Given the description of an element on the screen output the (x, y) to click on. 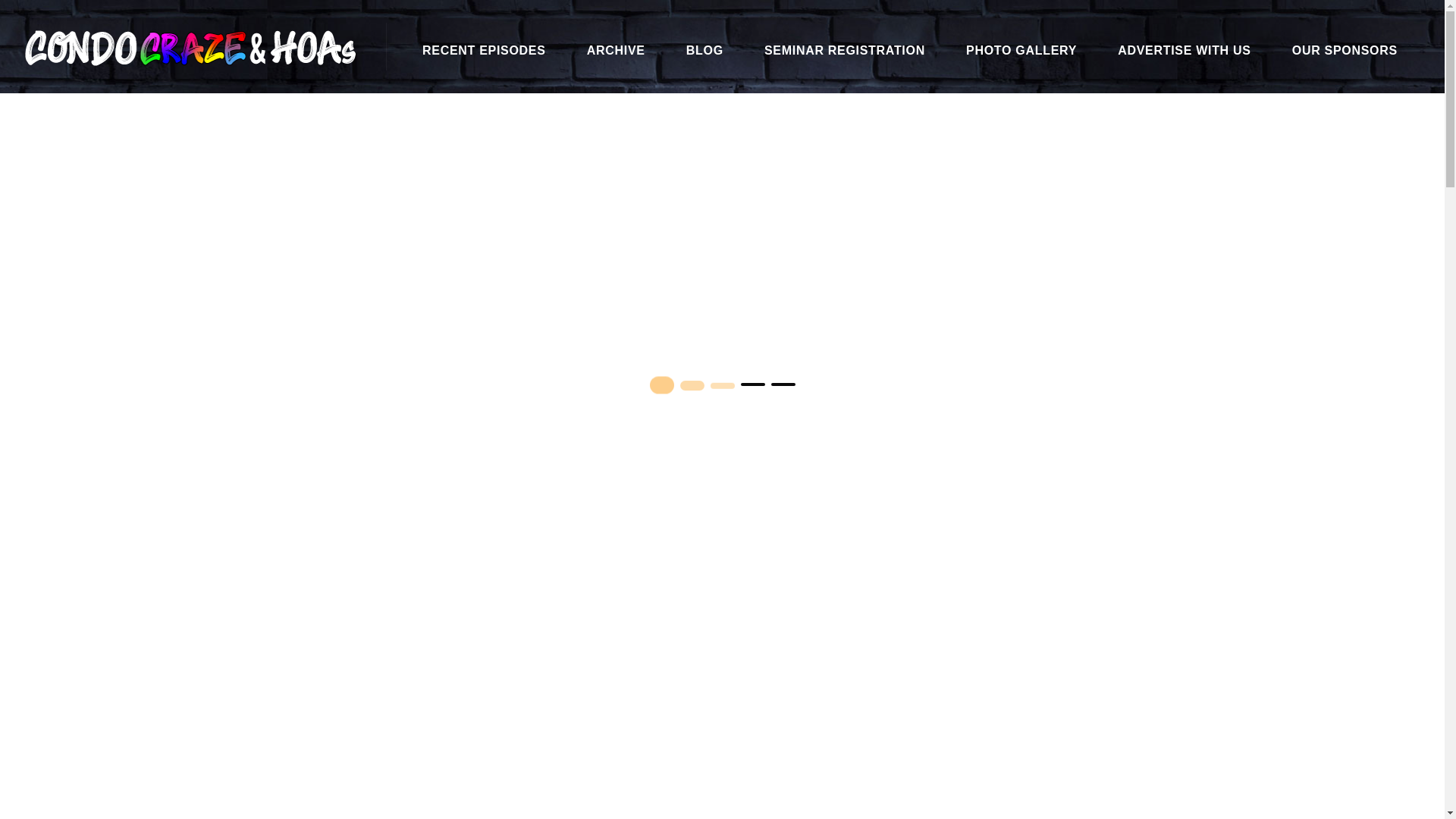
OUR SPONSORS (1344, 50)
ADVERTISE WITH US (1184, 50)
PHOTO GALLERY (1021, 50)
March 23, 2021 (721, 301)
SEMINAR REGISTRATION (844, 50)
RECENT EPISODES (484, 50)
Home (1063, 108)
ARCHIVE (615, 50)
BLOG (704, 50)
Home (1063, 108)
